Given the description of an element on the screen output the (x, y) to click on. 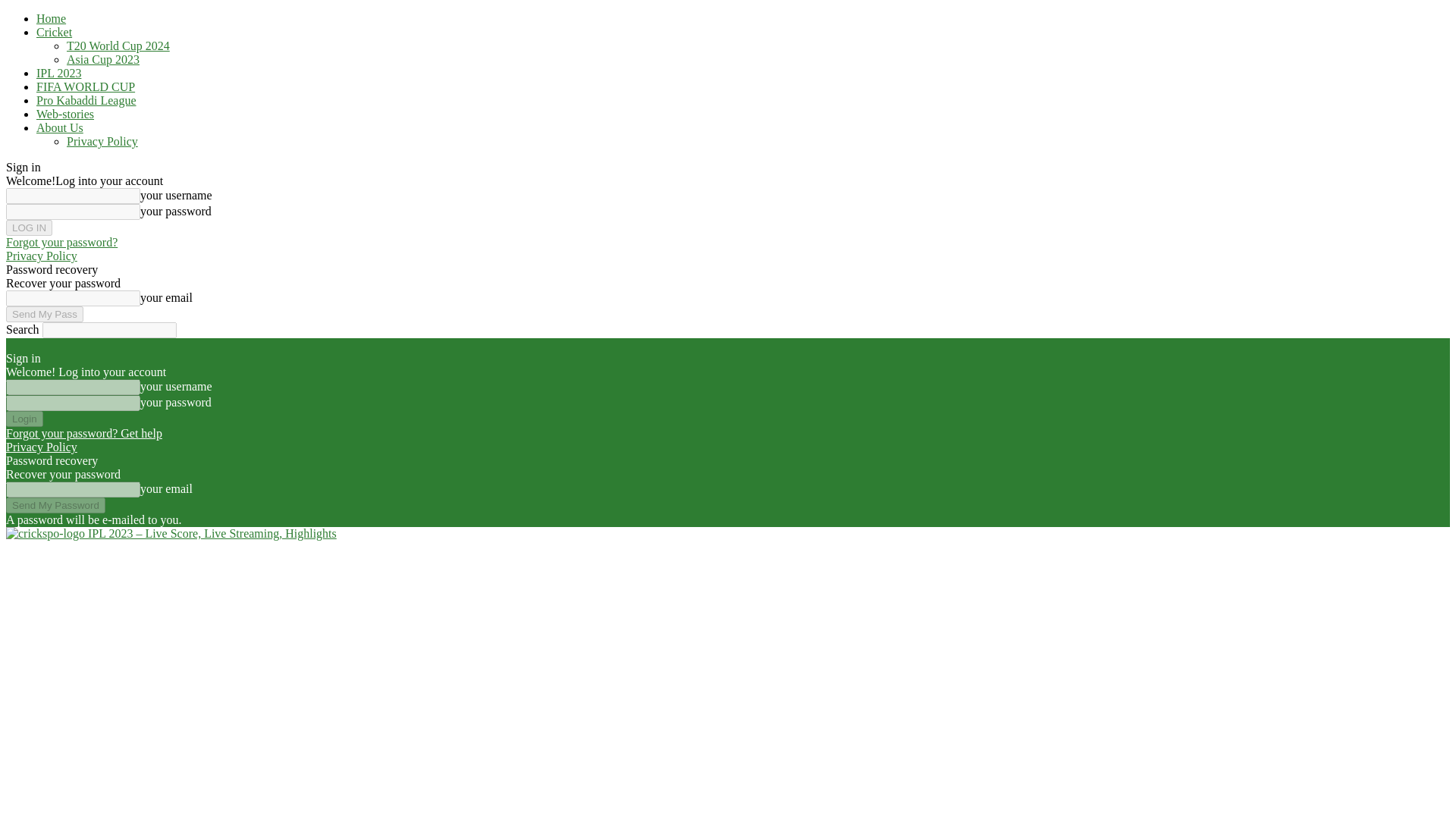
IPL 2023 (58, 72)
Send My Password (54, 505)
Forgot your password? (61, 241)
Pro Kabaddi League (86, 100)
Login (24, 418)
Privacy Policy (102, 141)
Privacy Policy (41, 446)
Send My Pass (43, 314)
LOG IN (28, 227)
FIFA WORLD CUP (85, 86)
Web-stories (65, 113)
About Us (59, 127)
Forgot your password? Get help (83, 432)
T20 World Cup 2024 (118, 45)
Home (50, 18)
